Given the description of an element on the screen output the (x, y) to click on. 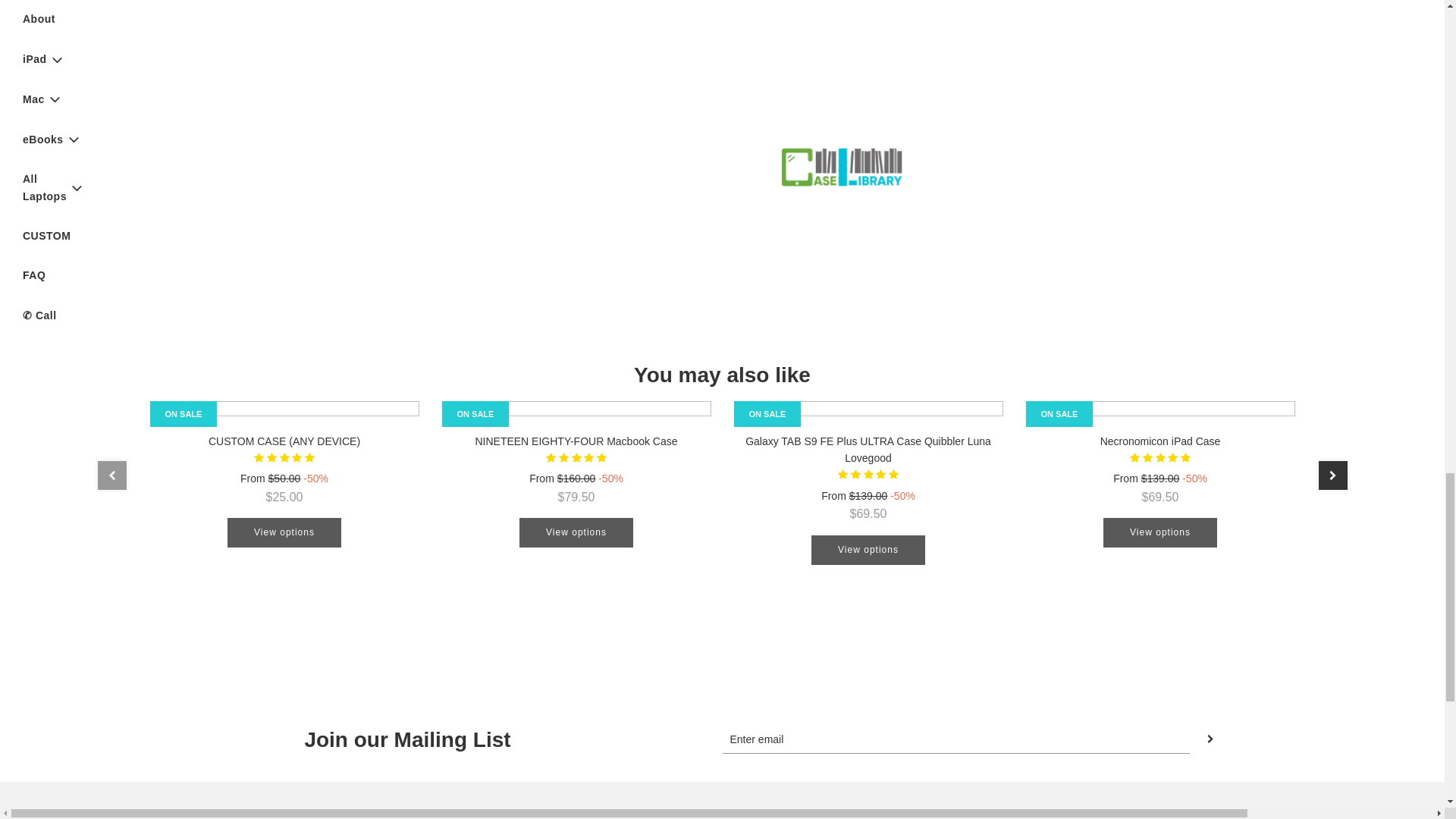
NINETEEN EIGHTY-FOUR Macbook Case (575, 410)
Galaxy TAB S9 FE Plus ULTRA Case Quibbler Luna Lovegood (868, 410)
Necronomicon iPad Case (1159, 410)
